Given the description of an element on the screen output the (x, y) to click on. 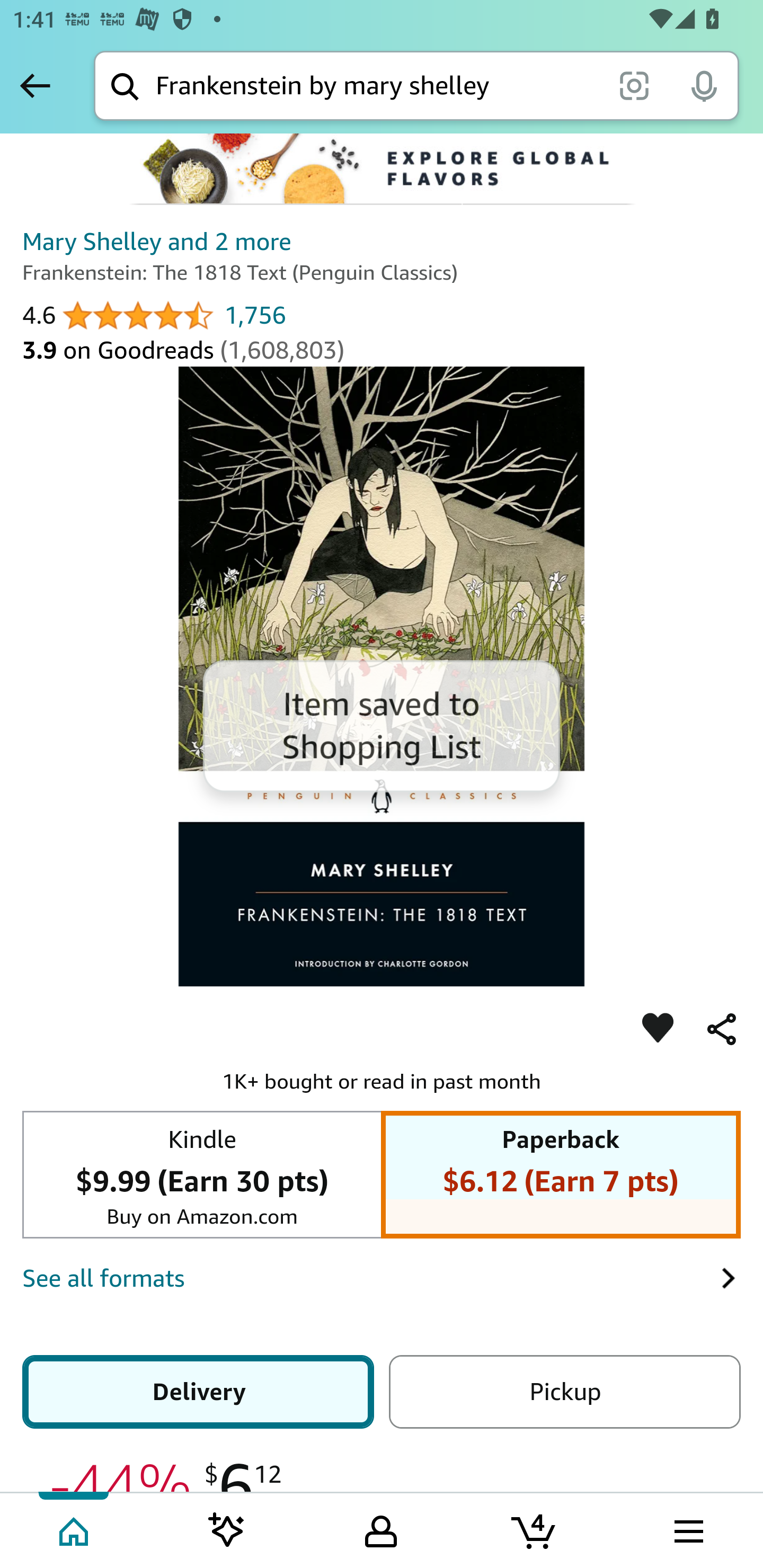
Back (35, 85)
scan it (633, 85)
Mary Shelley and 2 more Mary Shelley  and 2 more (157, 241)
Frankenstein: The 1818 Text (Penguin Classics) (381, 675)
Heart filled, item saved to list (657, 1028)
See all formats (371, 1278)
Delivery (198, 1391)
Pickup (564, 1391)
Home Tab 1 of 5 (75, 1529)
Inspire feed Tab 2 of 5 (227, 1529)
Your Amazon.com Tab 3 of 5 (380, 1529)
Cart 4 items Tab 4 of 5 4 (534, 1529)
Browse menu Tab 5 of 5 (687, 1529)
